Given the description of an element on the screen output the (x, y) to click on. 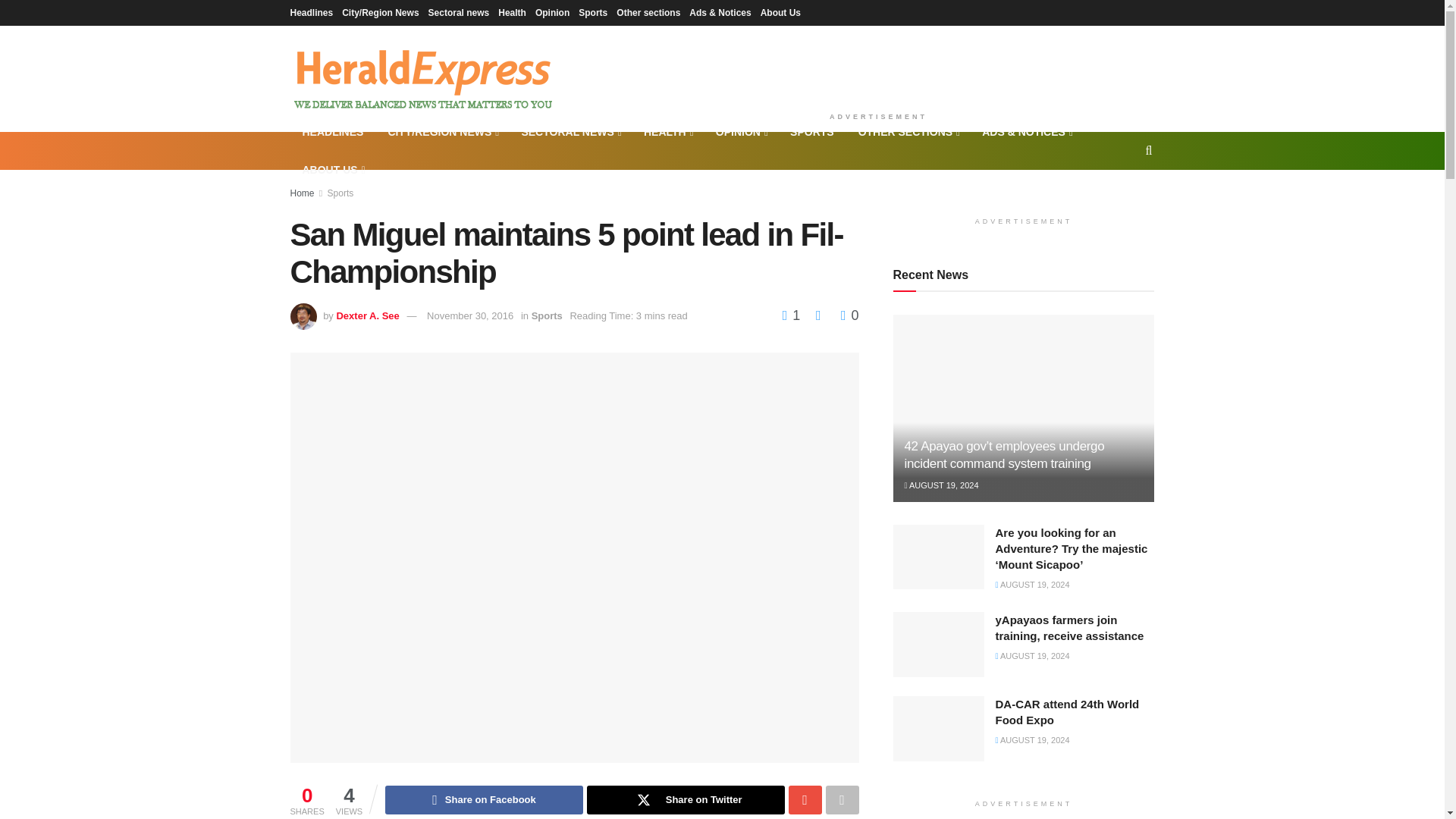
Sectoral news (458, 12)
Health (511, 12)
Opinion (552, 12)
Headlines (311, 12)
Other sections (647, 12)
Sports (592, 12)
About Us (780, 12)
